Given the description of an element on the screen output the (x, y) to click on. 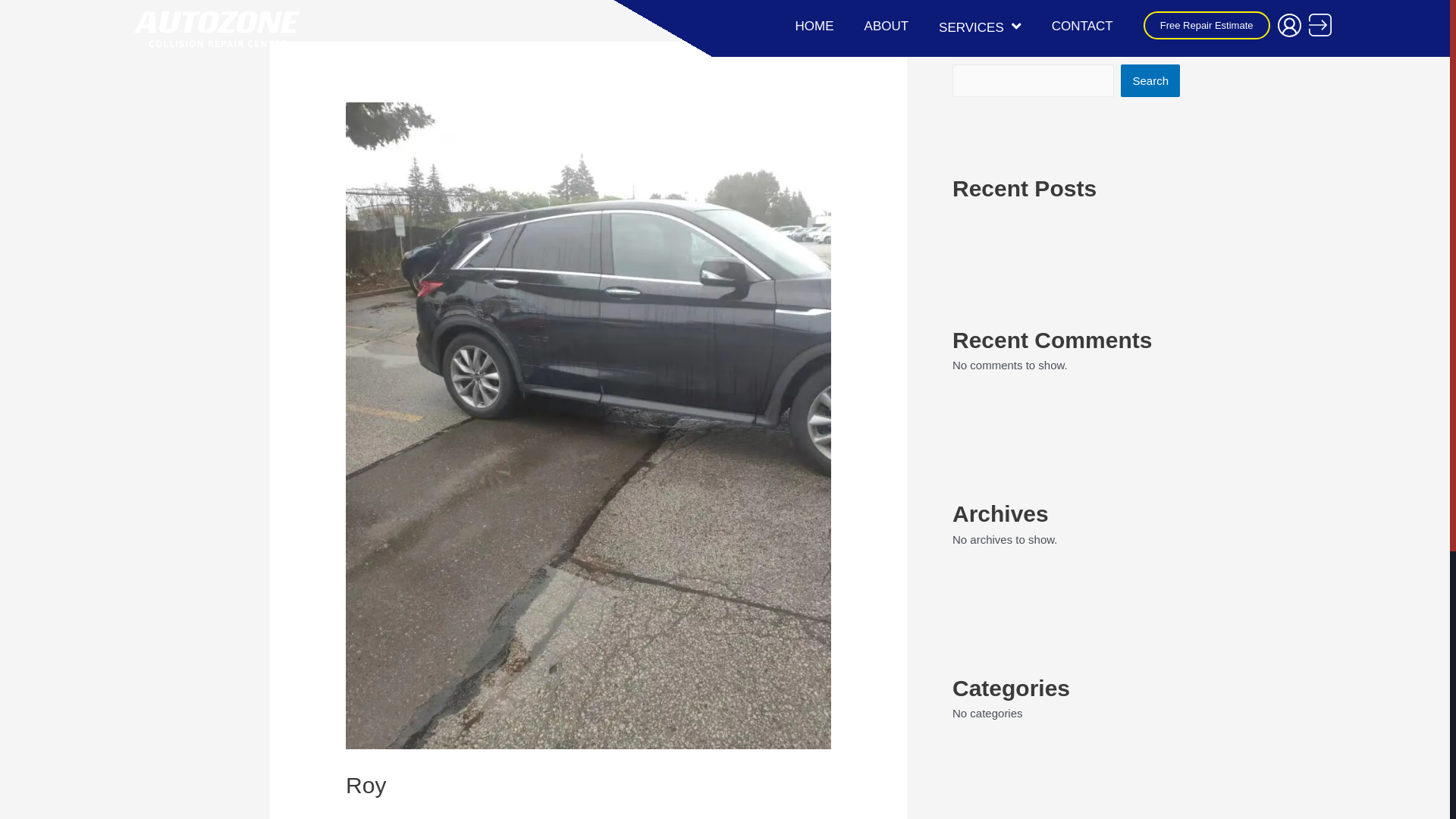
ABOUT Element type: text (886, 26)
HOME Element type: text (814, 26)
SERVICES Element type: text (979, 27)
Search Element type: text (1149, 80)
CONTACT Element type: text (1082, 26)
Free Repair Estimate Element type: text (1206, 25)
